Given the description of an element on the screen output the (x, y) to click on. 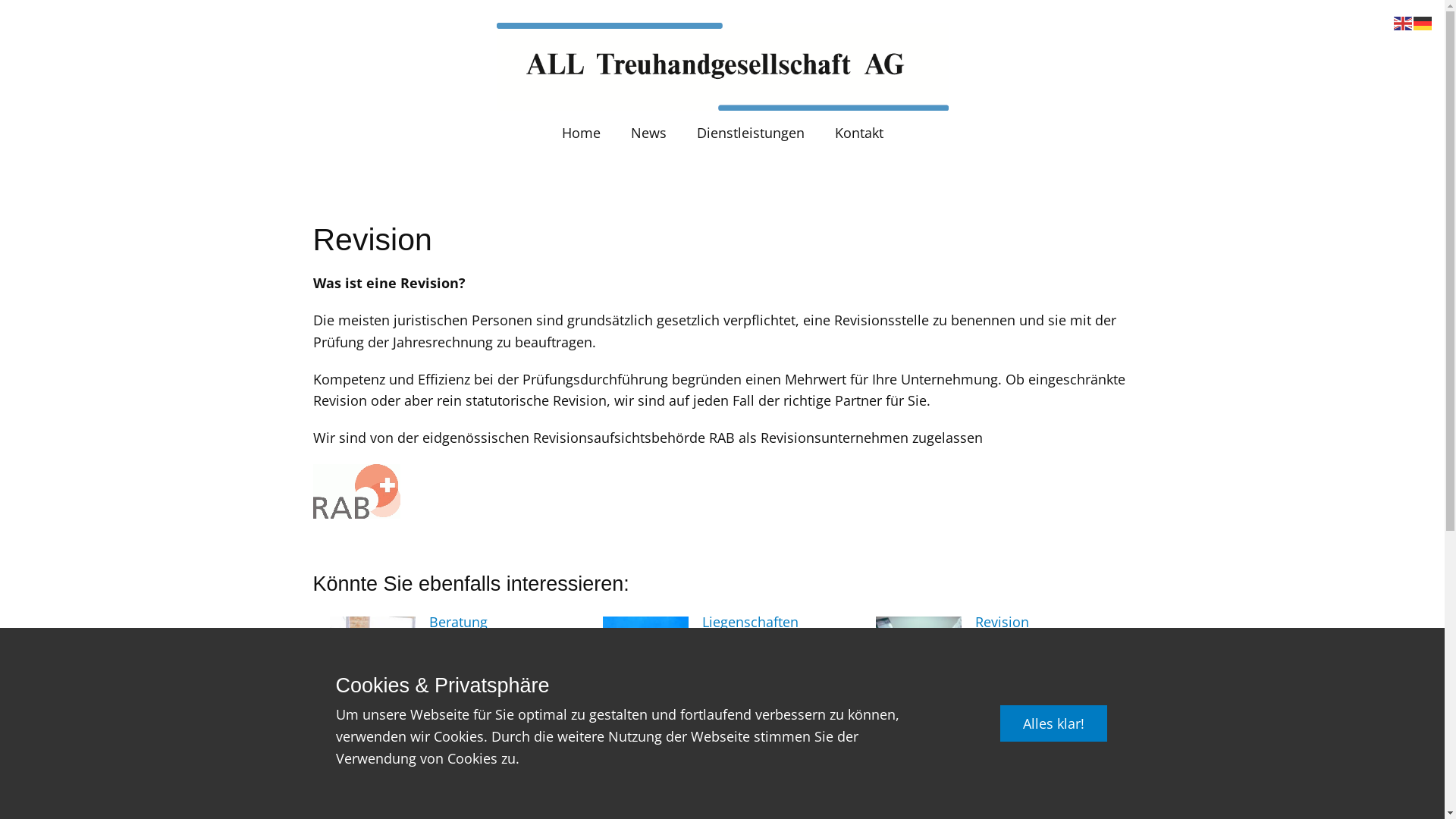
Treuhand Element type: text (732, 759)
English Element type: hover (1403, 21)
Home Element type: text (580, 132)
Deutsch Element type: hover (1423, 21)
Dienstleistungen Element type: text (749, 132)
News Element type: text (648, 132)
Home Element type: hover (721, 66)
Kontakt Element type: text (858, 132)
Liegenschaften Element type: text (750, 621)
Beratung Element type: text (458, 621)
Alles klar! Element type: text (1053, 723)
Revision Element type: text (1002, 621)
Steuern Element type: text (453, 759)
